Given the description of an element on the screen output the (x, y) to click on. 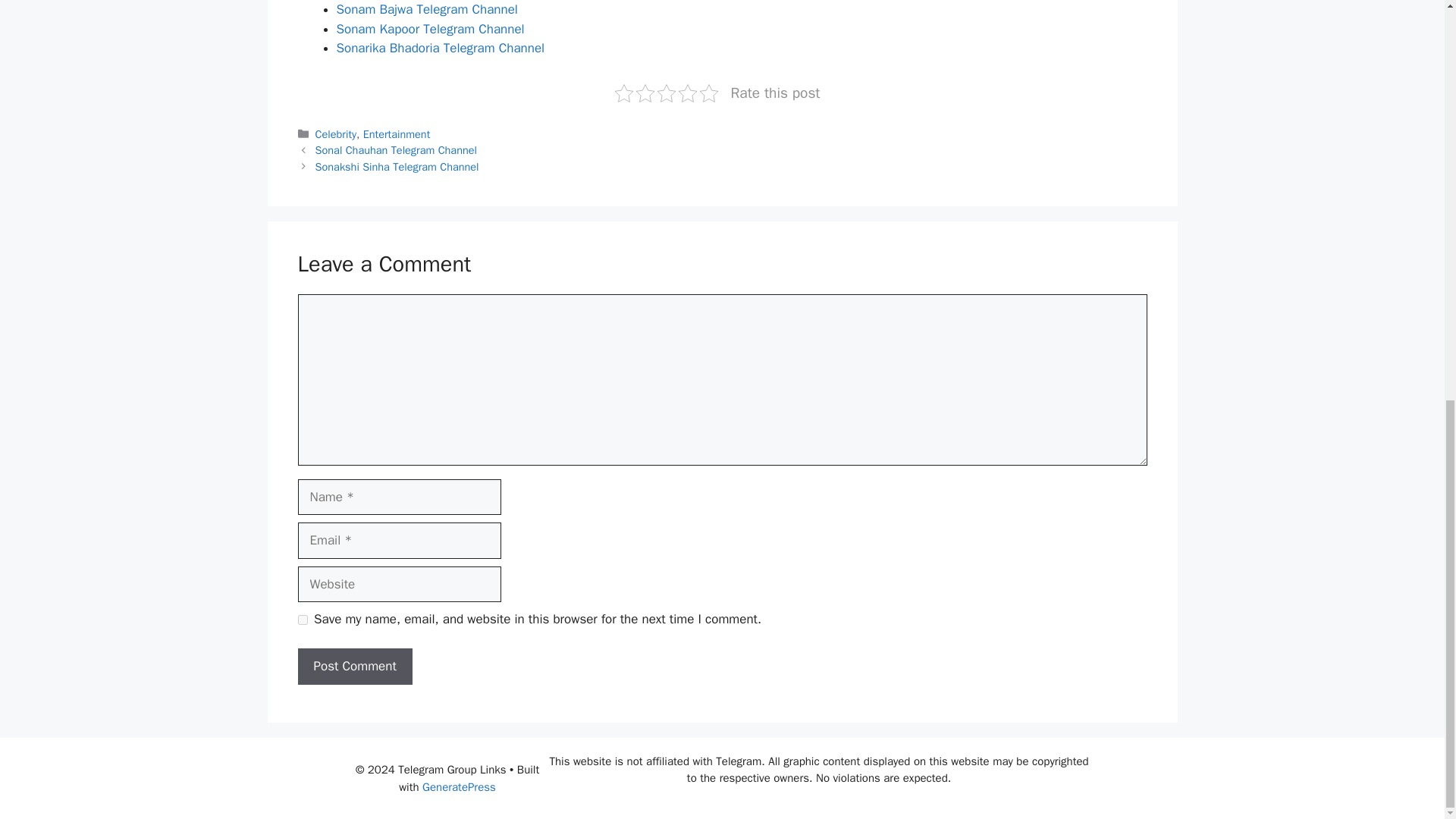
Sonarika Bhadoria Telegram Channel (440, 48)
Sonal Chauhan Telegram Channel (396, 150)
Sonam Kapoor Telegram Channel (430, 28)
yes (302, 619)
GeneratePress (459, 786)
Entertainment (396, 133)
Sonam Bajwa Telegram Channel (427, 9)
Post Comment (354, 666)
Post Comment (354, 666)
Scroll back to top (1406, 757)
Celebrity (335, 133)
Sonakshi Sinha Telegram Channel (397, 166)
